Given the description of an element on the screen output the (x, y) to click on. 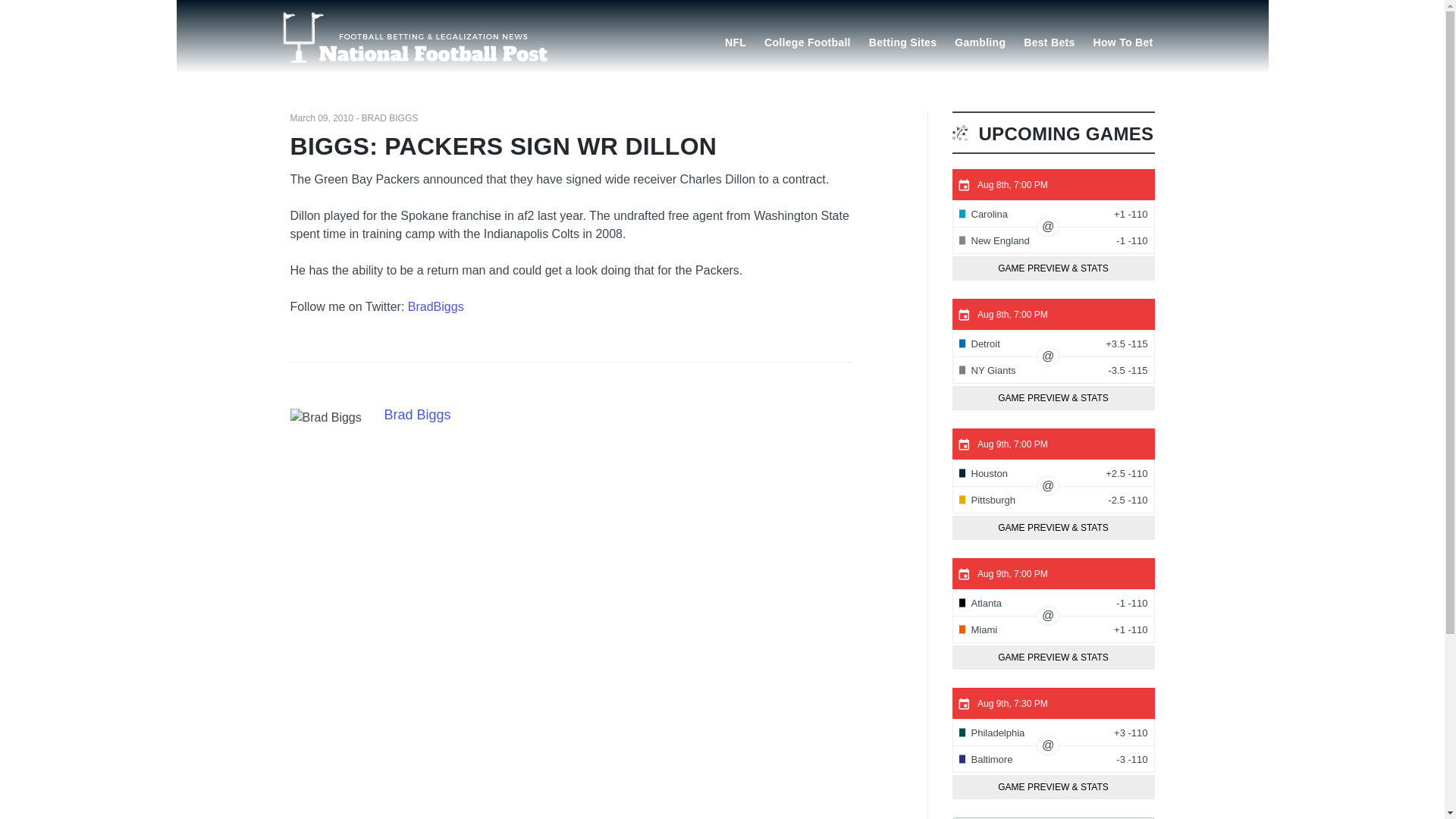
BradBiggs (435, 306)
College Football (807, 41)
Gambling (979, 41)
Best Bets (1048, 41)
Brad Biggs (325, 417)
College Football (807, 41)
How To Bet (1122, 41)
How To Bet (1122, 41)
Betting Sites (902, 41)
NFL (735, 41)
Best Bets (1048, 41)
Betting Sites (902, 41)
Brad Biggs (416, 414)
NFL (735, 41)
